Given the description of an element on the screen output the (x, y) to click on. 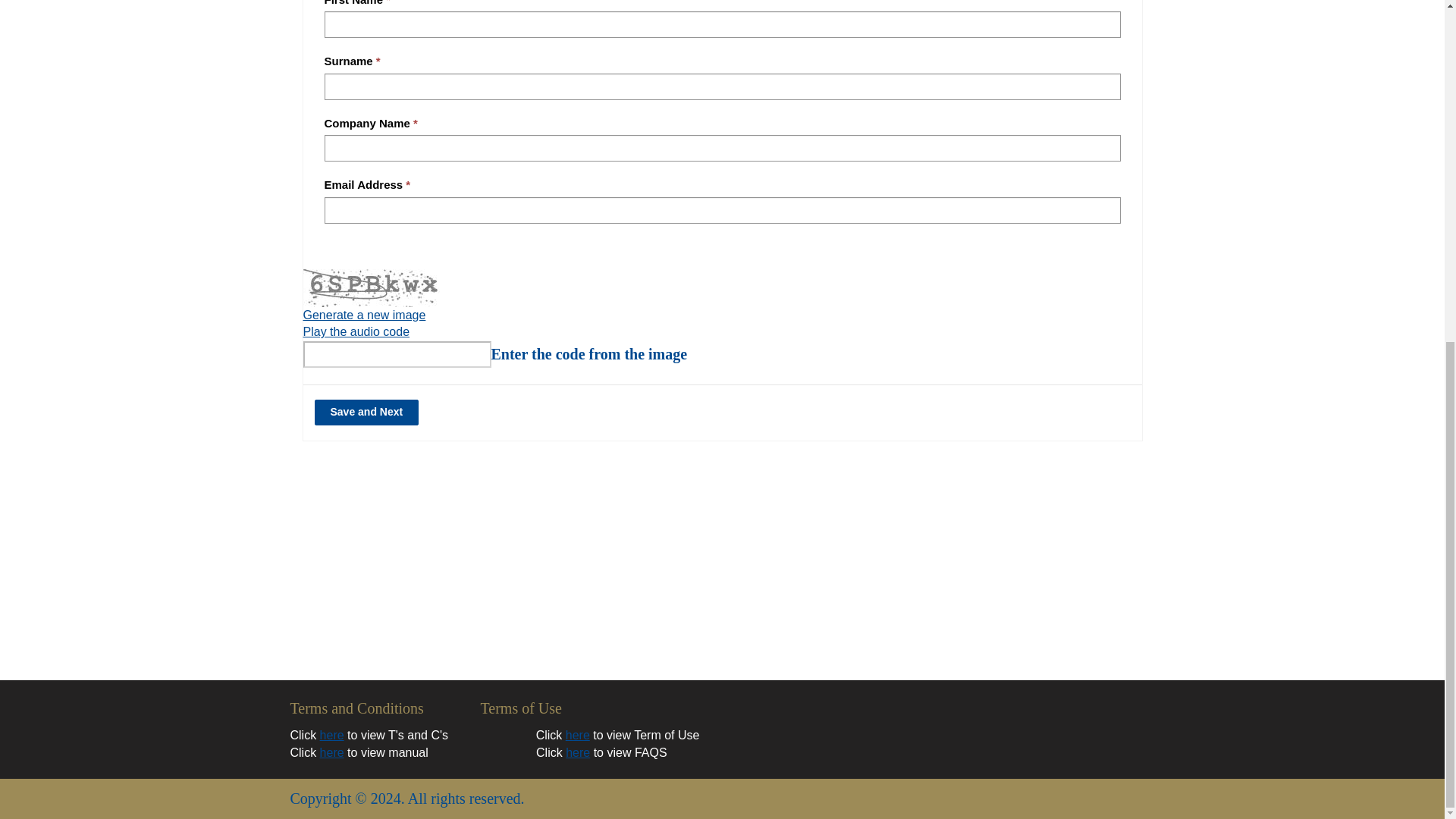
here (331, 735)
Surname is a required field. (722, 86)
Play the audio code (356, 332)
Company Name is a required field. (722, 148)
Save and Next (366, 412)
here (331, 752)
Generate a new image (364, 315)
here (577, 735)
First Name is a required field. (722, 24)
here (577, 752)
